Given the description of an element on the screen output the (x, y) to click on. 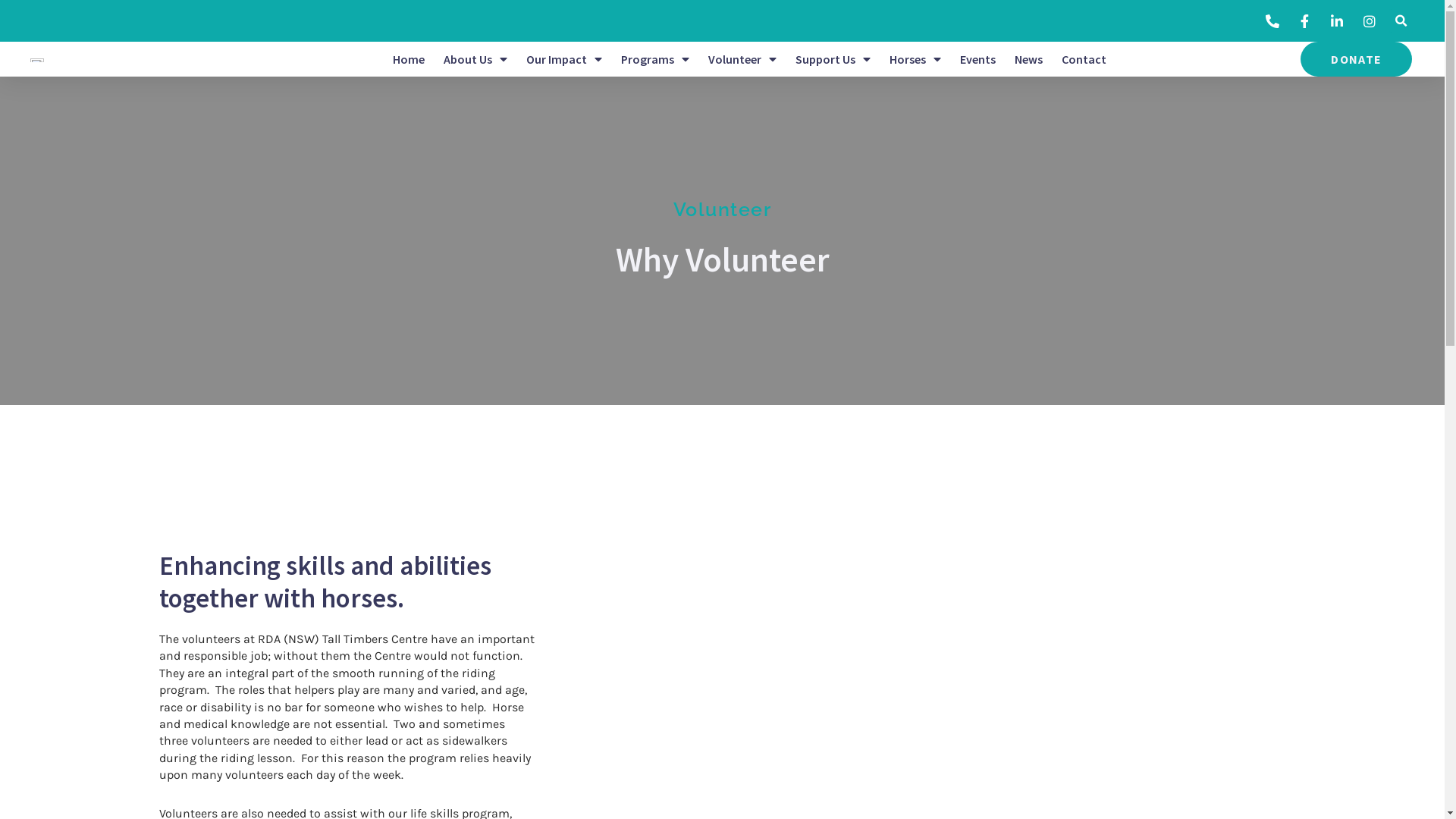
Events Element type: text (977, 58)
About Us Element type: text (475, 58)
News Element type: text (1028, 58)
Support Us Element type: text (832, 58)
Volunteer Element type: text (742, 58)
Our Impact Element type: text (564, 58)
Home Element type: text (408, 58)
Horses Element type: text (915, 58)
Contact Element type: text (1083, 58)
DONATE Element type: text (1356, 58)
Programs Element type: text (655, 58)
